Given the description of an element on the screen output the (x, y) to click on. 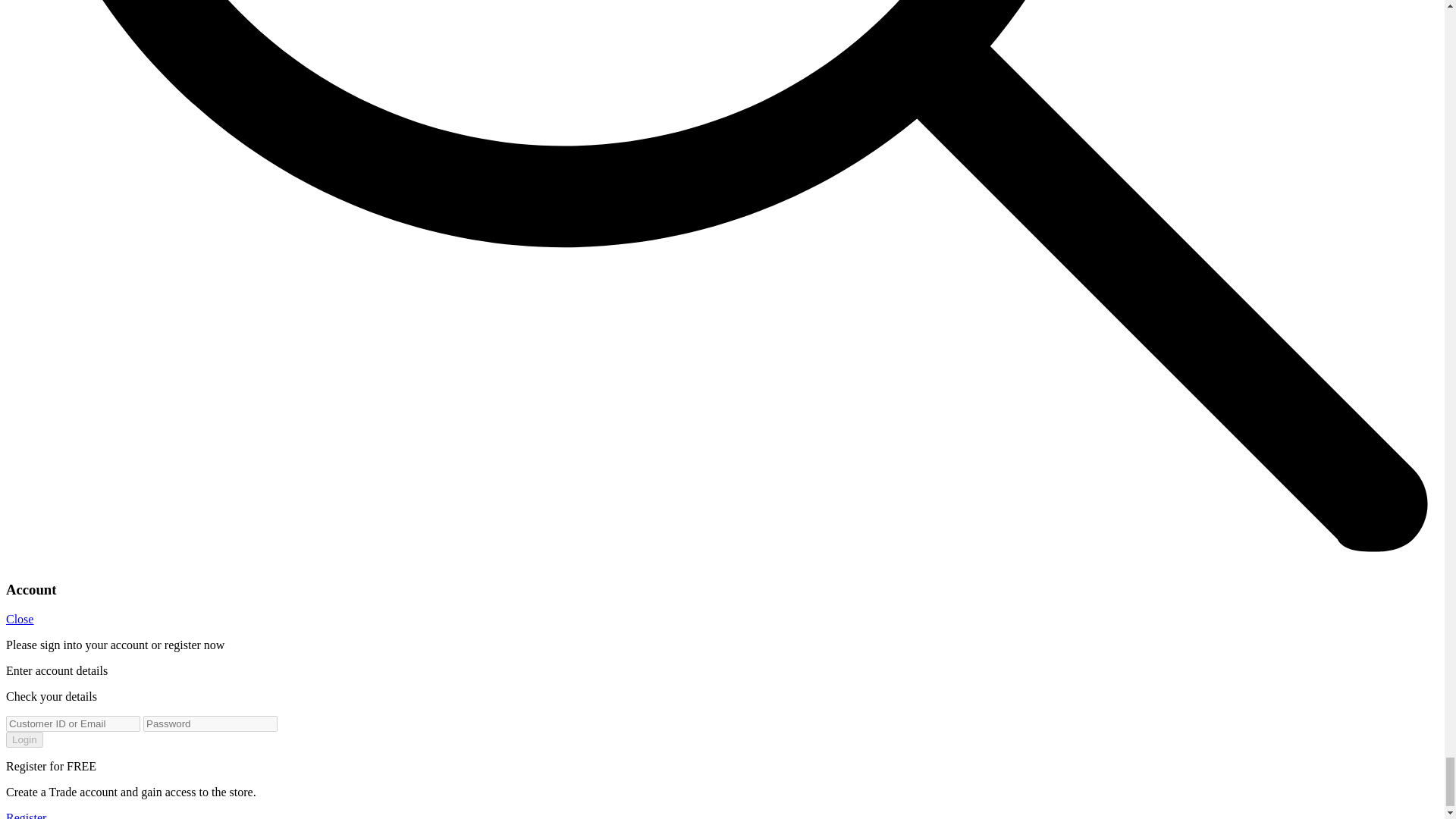
Login (24, 739)
